Given the description of an element on the screen output the (x, y) to click on. 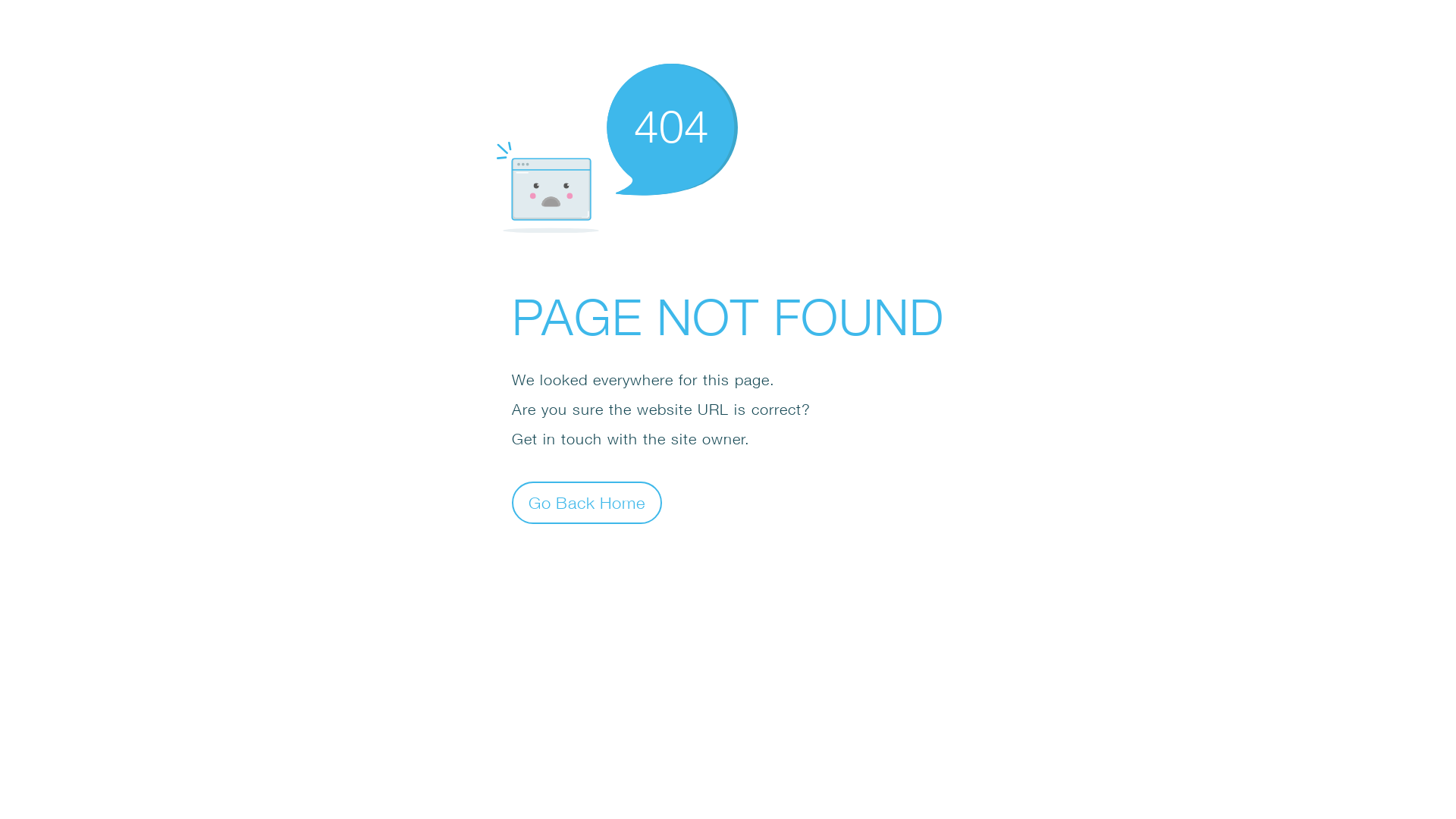
Go Back Home Element type: text (586, 502)
